Given the description of an element on the screen output the (x, y) to click on. 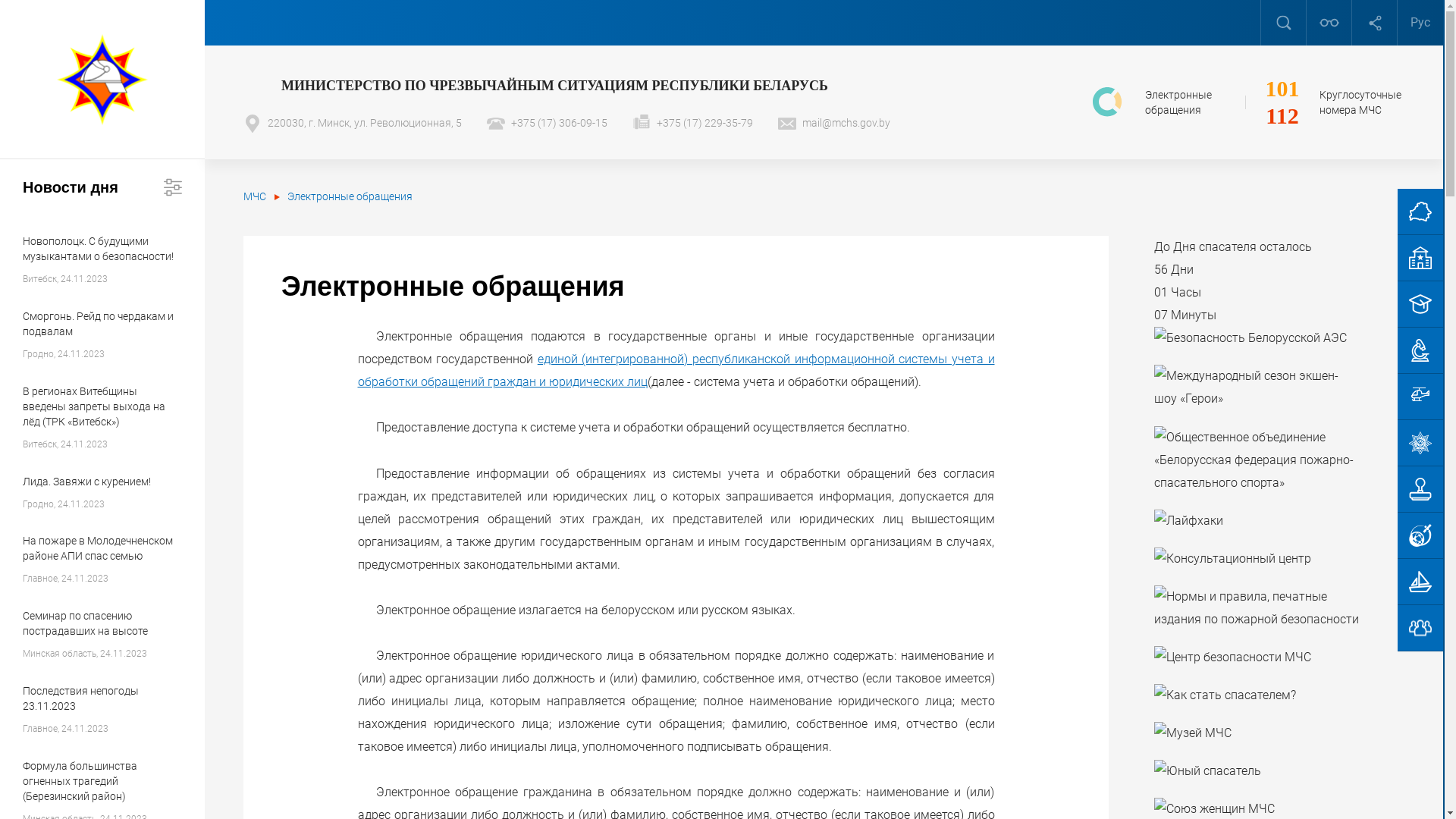
mail@mchs.gov.by Element type: text (834, 122)
+375 (17) 306-09-15 Element type: text (546, 122)
+375 (17) 229-35-79 Element type: text (692, 122)
112 Element type: text (1281, 115)
101 Element type: text (1281, 88)
